Given the description of an element on the screen output the (x, y) to click on. 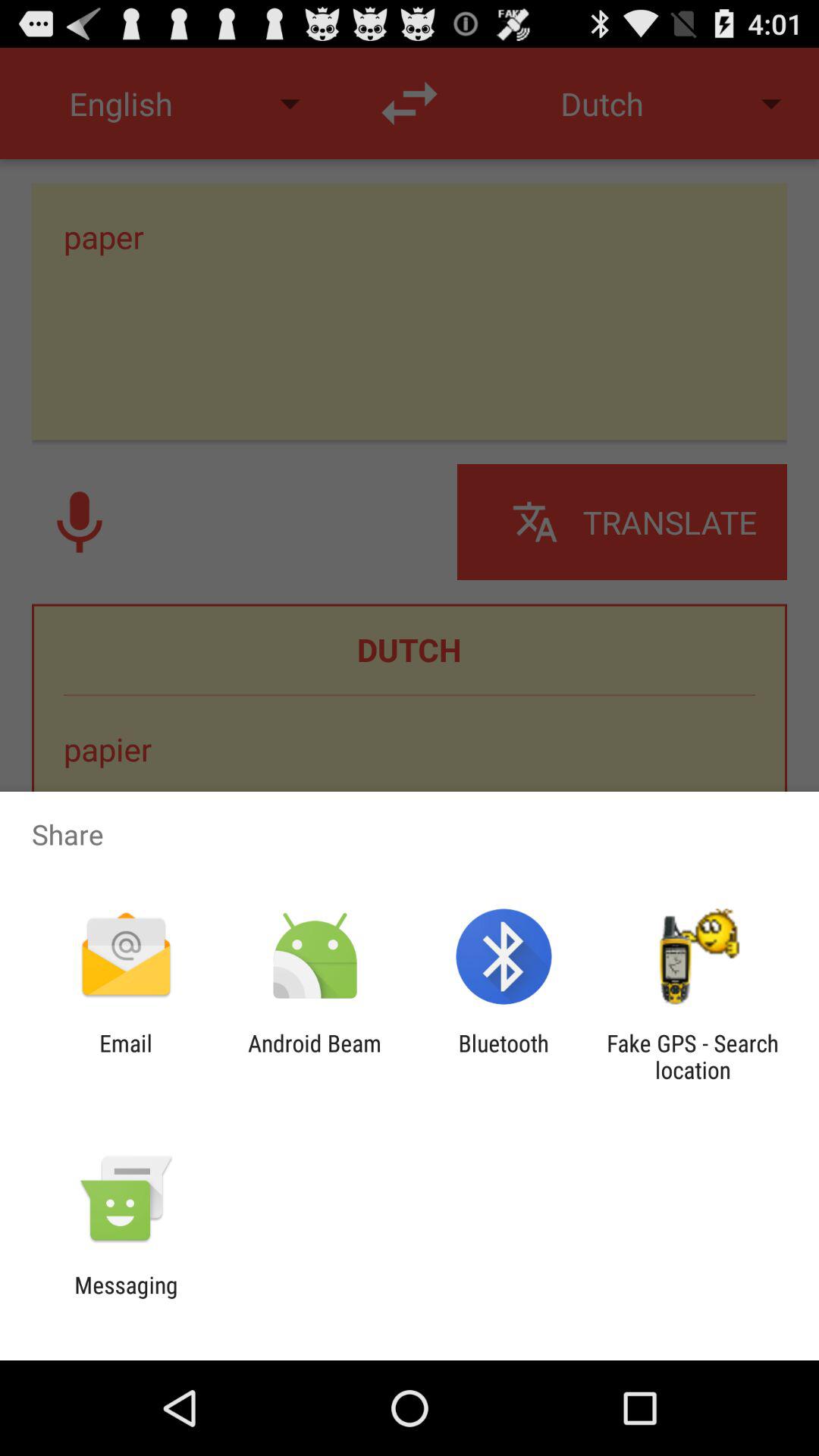
tap the app to the left of the android beam (125, 1056)
